Given the description of an element on the screen output the (x, y) to click on. 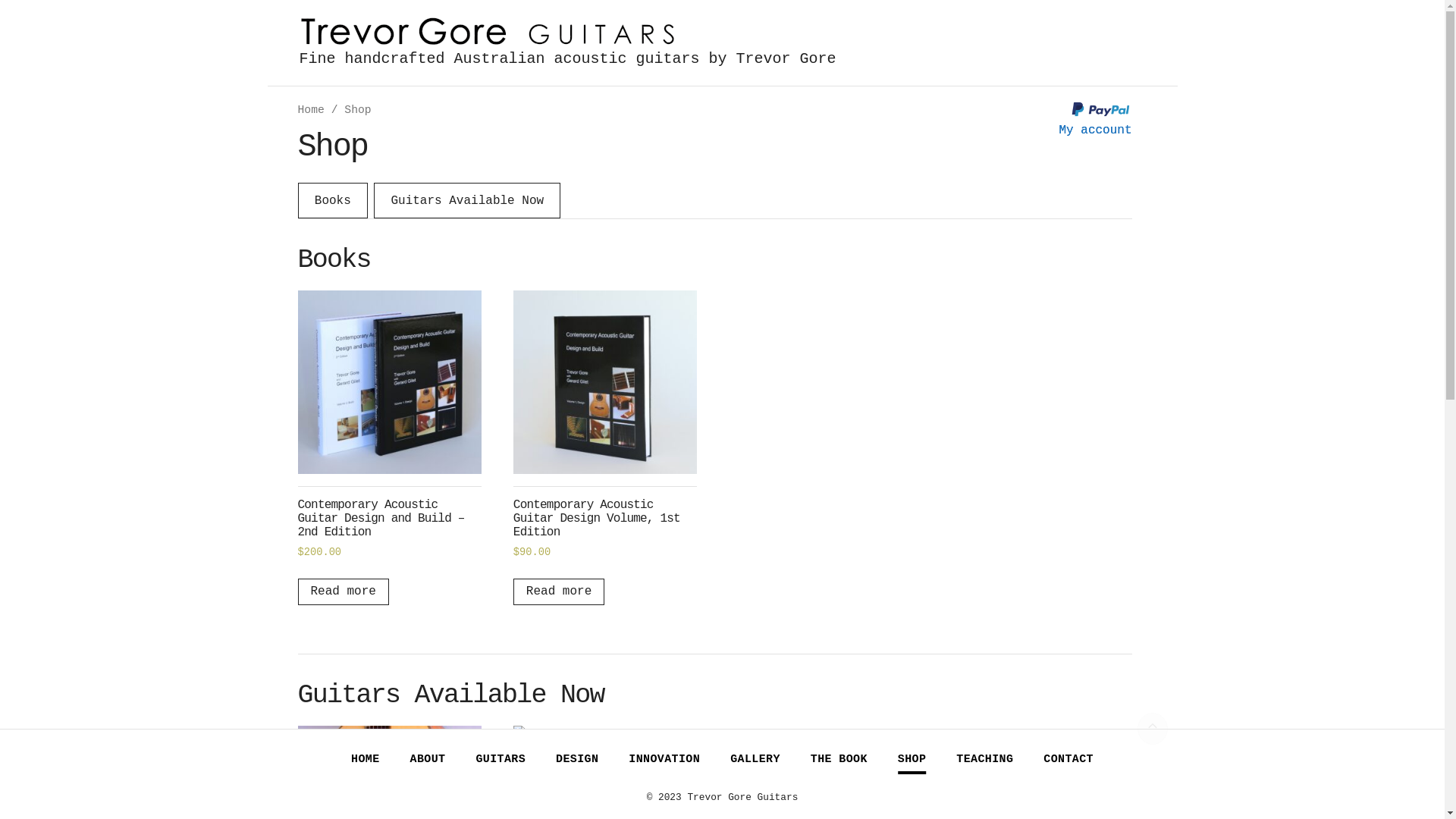
INNOVATION Element type: text (664, 759)
ABOUT Element type: text (428, 759)
My account Element type: text (1094, 130)
THE BOOK Element type: text (838, 759)
SHOP Element type: text (911, 759)
Read more Element type: text (558, 591)
TEACHING Element type: text (984, 759)
GUITARS Element type: text (500, 759)
Guitars Available Now Element type: text (466, 200)
Read more Element type: text (342, 591)
DESIGN Element type: text (576, 759)
CONTACT Element type: text (1068, 759)
Scroll back to top Element type: hover (1152, 728)
Home Element type: text (310, 109)
HOME Element type: text (365, 759)
GALLERY Element type: text (755, 759)
Books Element type: text (332, 200)
